Given the description of an element on the screen output the (x, y) to click on. 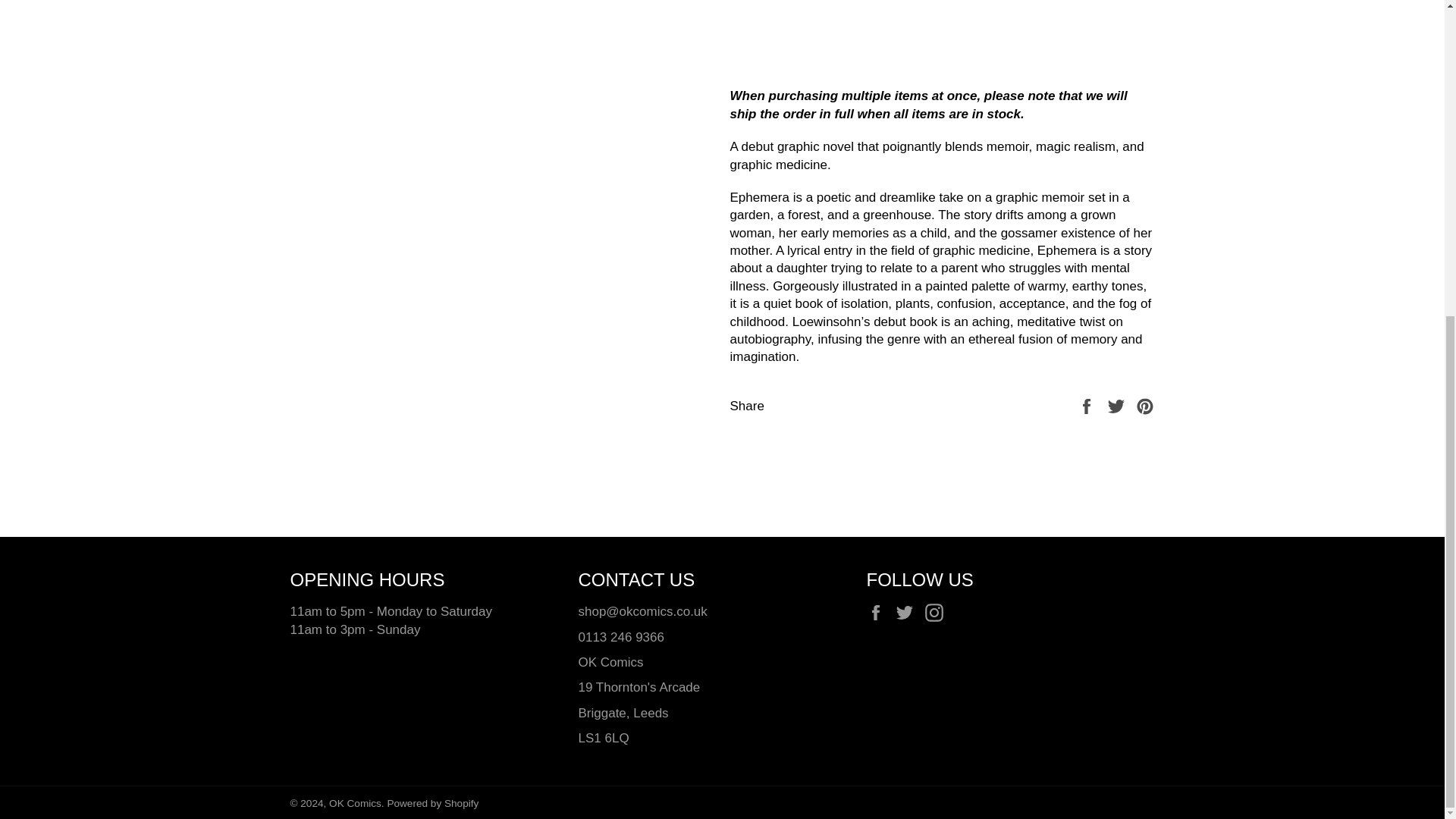
OK Comics (355, 803)
OK Comics on Twitter (908, 611)
Share on Facebook (1088, 405)
Tweet on Twitter (1117, 405)
OK Comics on Facebook (878, 611)
Instagram (937, 611)
Pin on Pinterest (1144, 405)
Share on Facebook (1088, 405)
Tweet on Twitter (1117, 405)
OK Comics on Instagram (937, 611)
Powered by Shopify (433, 803)
Twitter (908, 611)
Facebook (878, 611)
Pin on Pinterest (1144, 405)
